Given the description of an element on the screen output the (x, y) to click on. 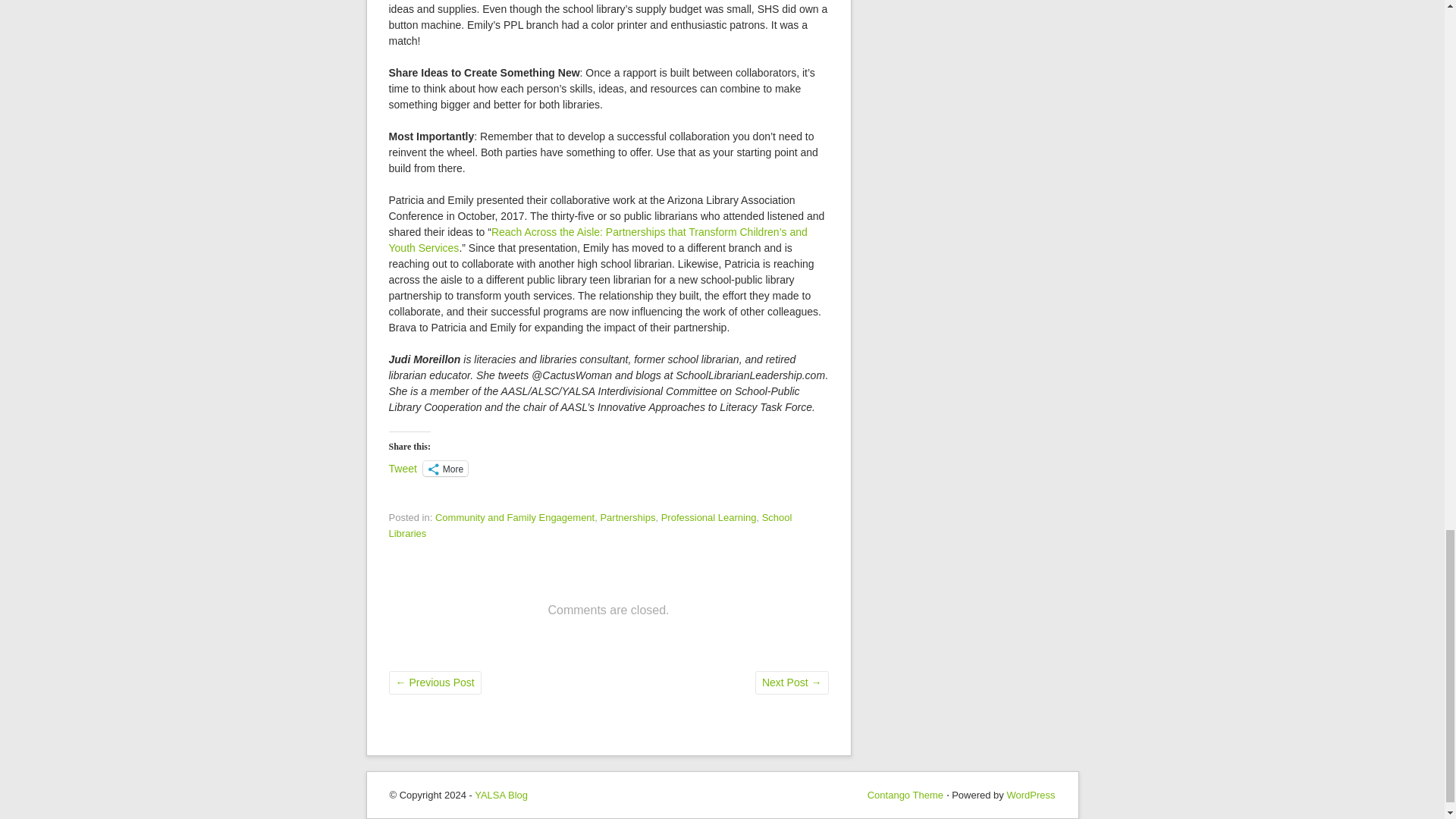
Professional Learning (709, 517)
School Libraries (590, 524)
More (445, 468)
Contango Theme (905, 794)
Partnerships (627, 517)
Tweet (402, 468)
Community and Family Engagement (514, 517)
WordPress (1030, 794)
